Given the description of an element on the screen output the (x, y) to click on. 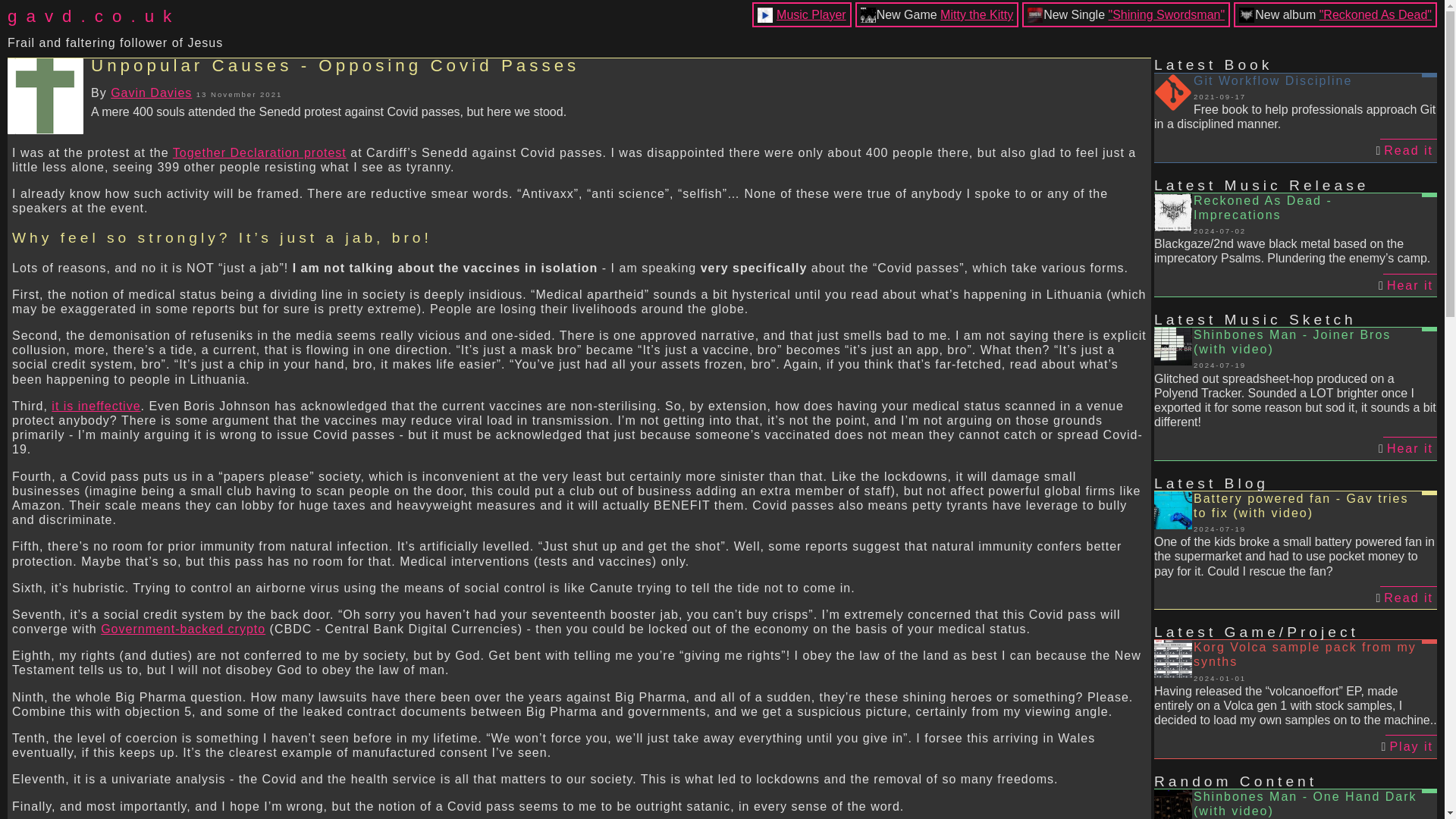
Git Workflow Discipline (1295, 87)
Hear it (1410, 284)
Read it (1408, 149)
Korg Volca sample pack from my synths (1295, 660)
Player for all the music on the site (810, 14)
"Reckoned As Dead" (1375, 14)
Play it (1411, 745)
Gavin Davies (151, 92)
gavd.co.uk (114, 16)
Music Player (810, 14)
Government-backed crypto (182, 628)
it is ineffective (94, 405)
Mitty the Kitty (976, 14)
Read it (1408, 597)
